Given the description of an element on the screen output the (x, y) to click on. 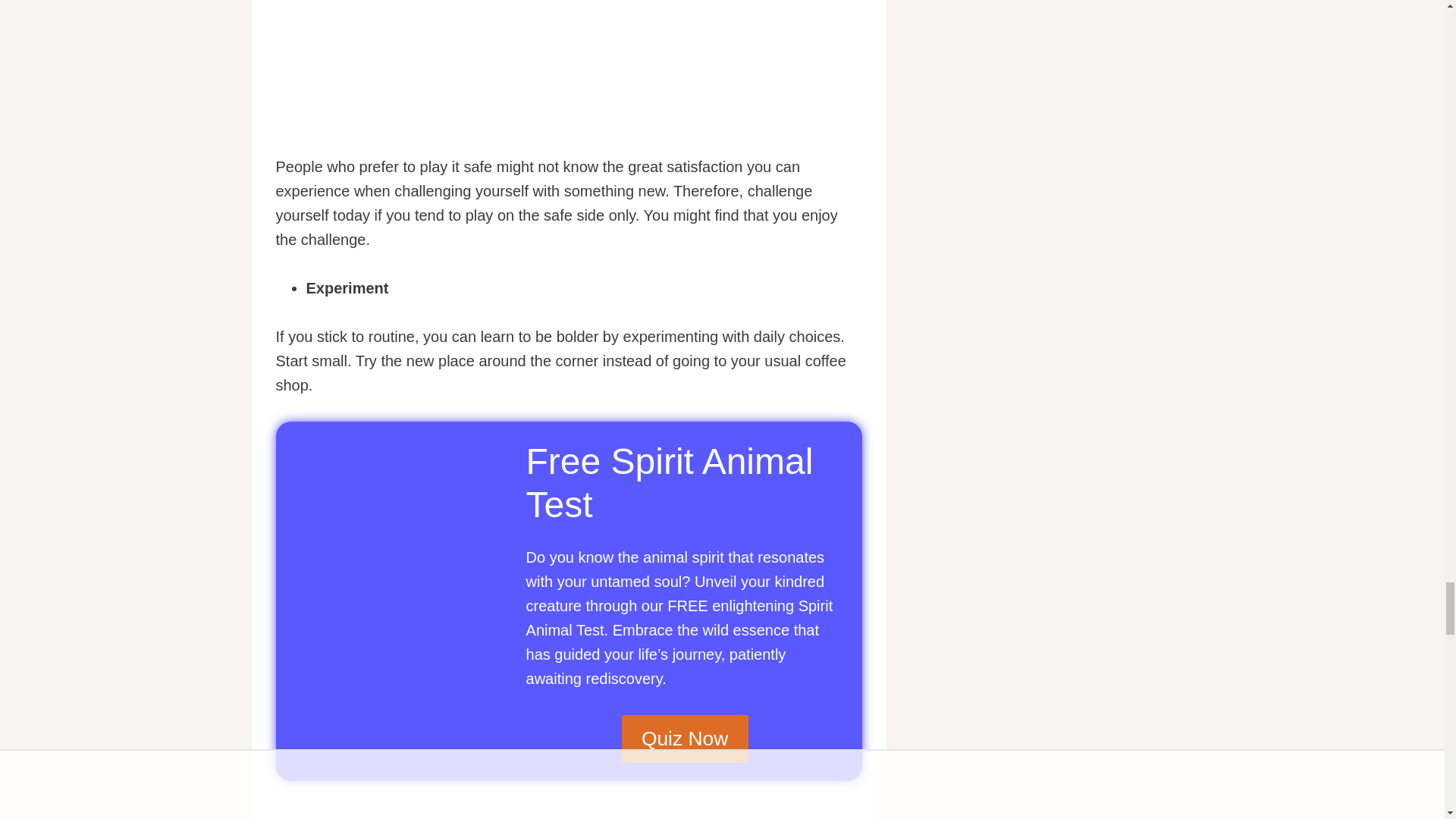
Quiz Now (684, 738)
